Given the description of an element on the screen output the (x, y) to click on. 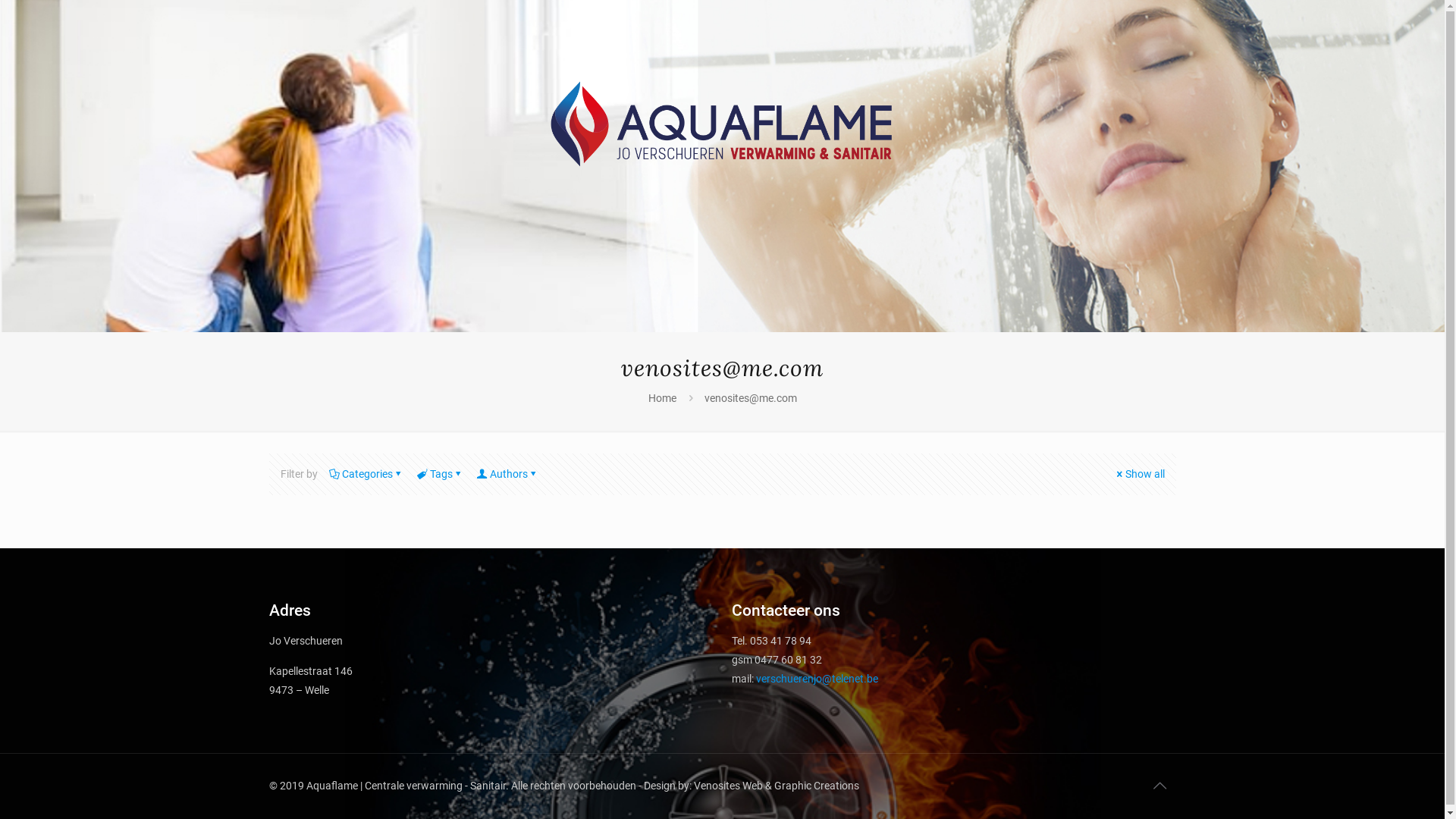
Categories Element type: text (367, 473)
Authors Element type: text (507, 473)
verschuerenjo@telenet.be Element type: text (816, 678)
Show all Element type: text (1139, 473)
Home Element type: text (661, 398)
Tags Element type: text (441, 473)
